Given the description of an element on the screen output the (x, y) to click on. 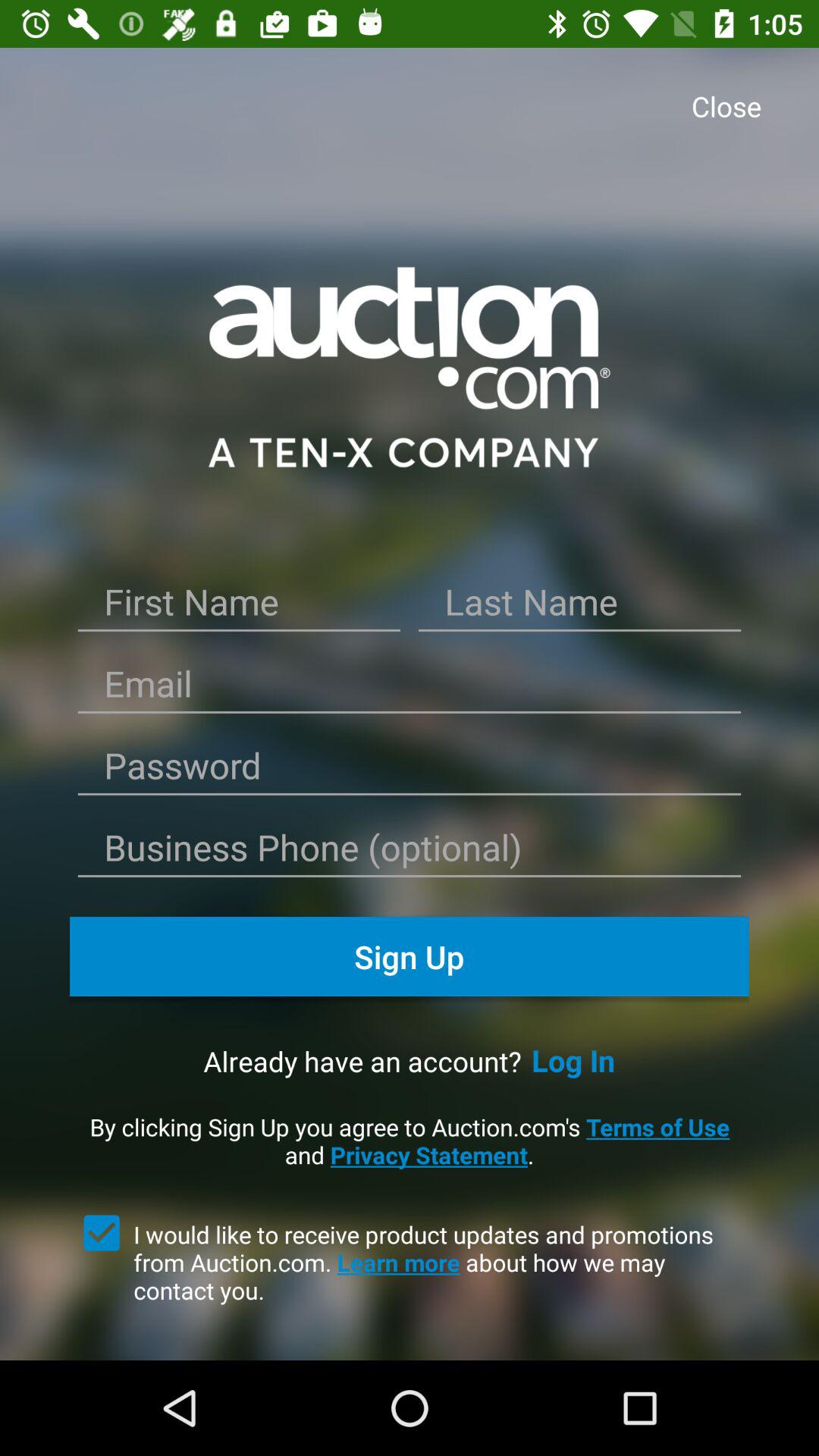
click the log in (573, 1060)
